Given the description of an element on the screen output the (x, y) to click on. 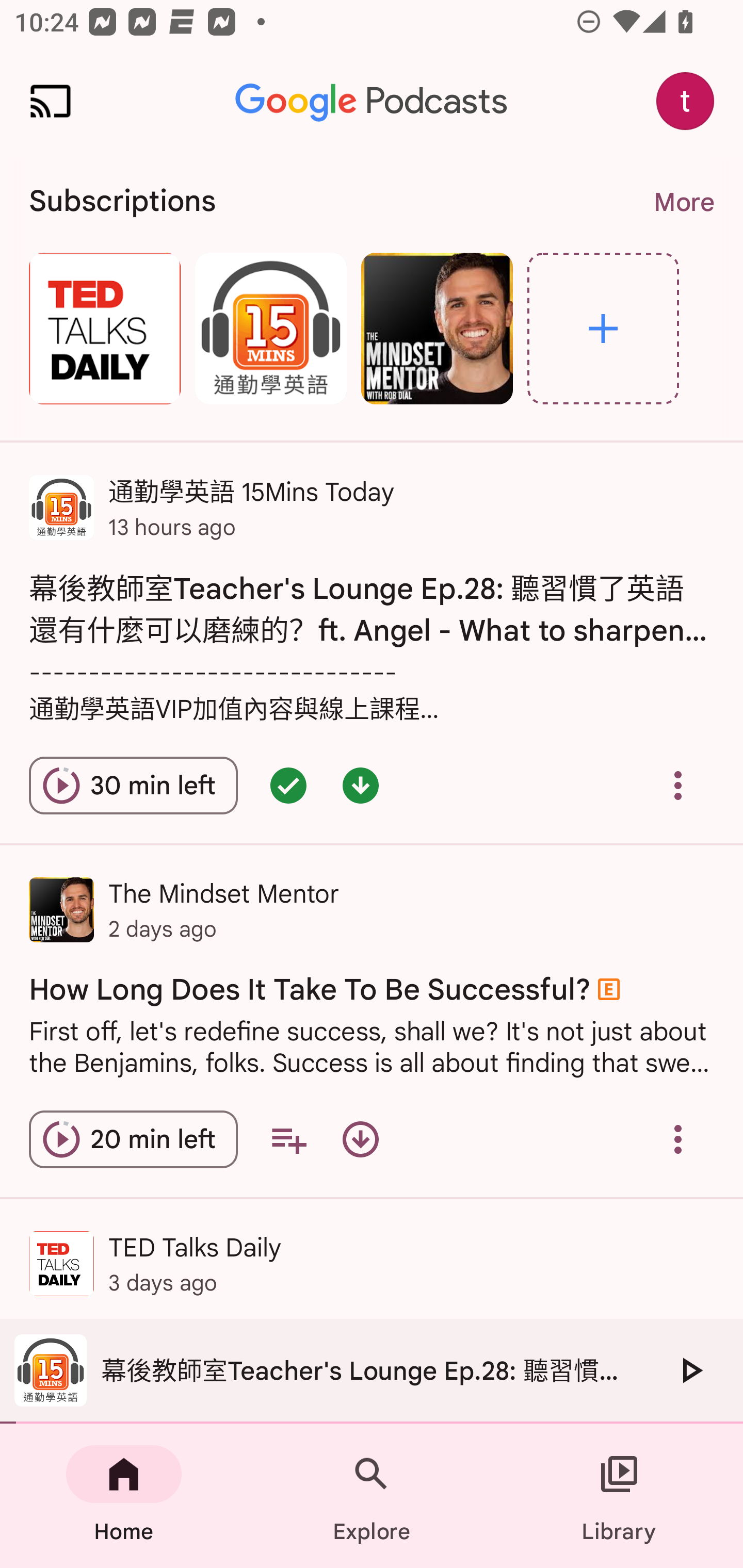
Cast. Disconnected (50, 101)
More More. Navigate to subscriptions page. (683, 202)
TED Talks Daily (104, 328)
通勤學英語 15Mins Today (270, 328)
The Mindset Mentor (436, 328)
Explore (603, 328)
Episode queued - double tap for options (288, 785)
Episode downloaded - double tap for options (360, 785)
Overflow menu (677, 785)
Add to your queue (288, 1139)
Download episode (360, 1139)
Overflow menu (677, 1139)
Play (690, 1370)
Explore (371, 1495)
Library (619, 1495)
